Given the description of an element on the screen output the (x, y) to click on. 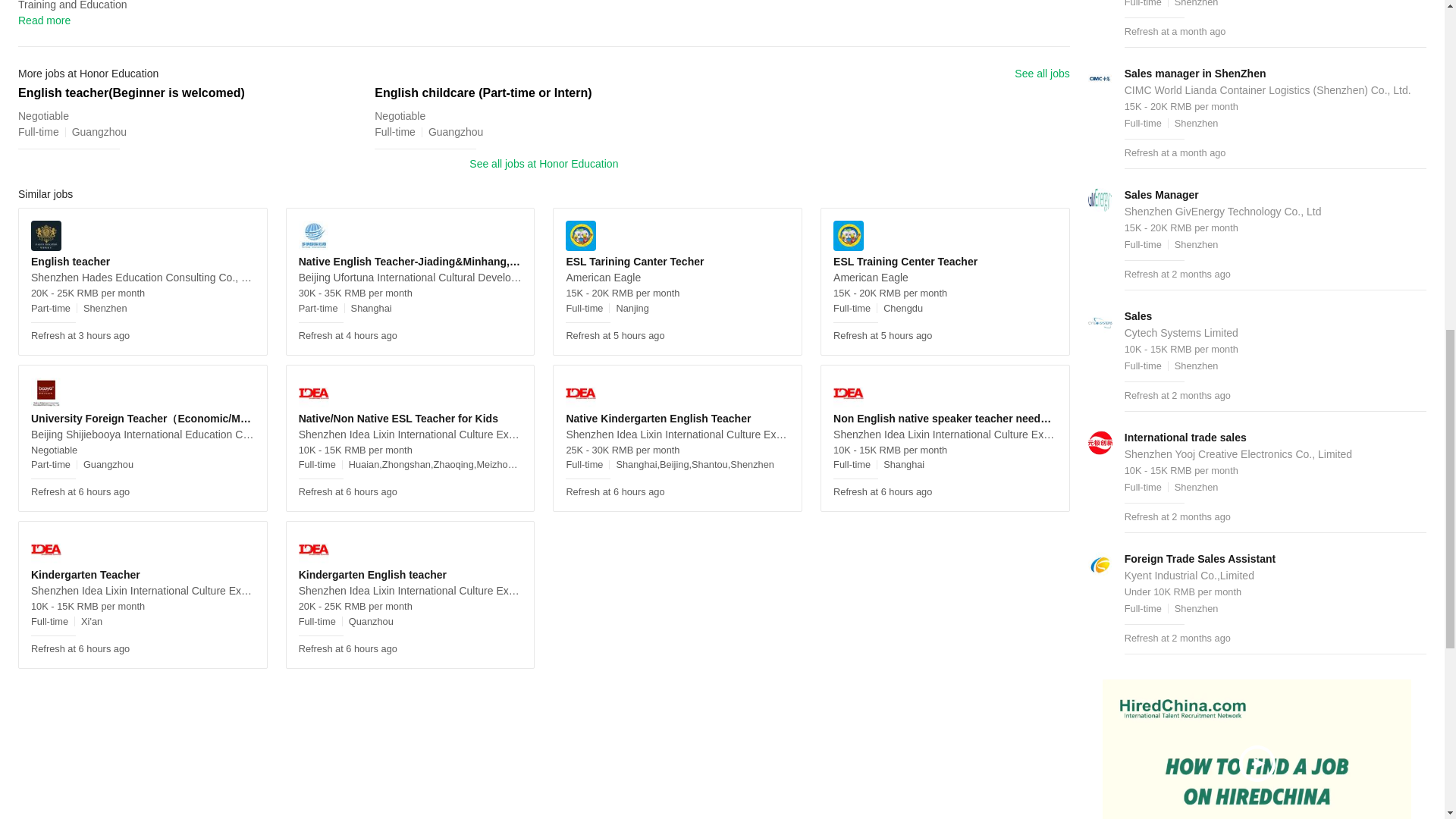
Read more (43, 20)
See all jobs (1041, 73)
See all jobs at Honor Education (542, 163)
